Given the description of an element on the screen output the (x, y) to click on. 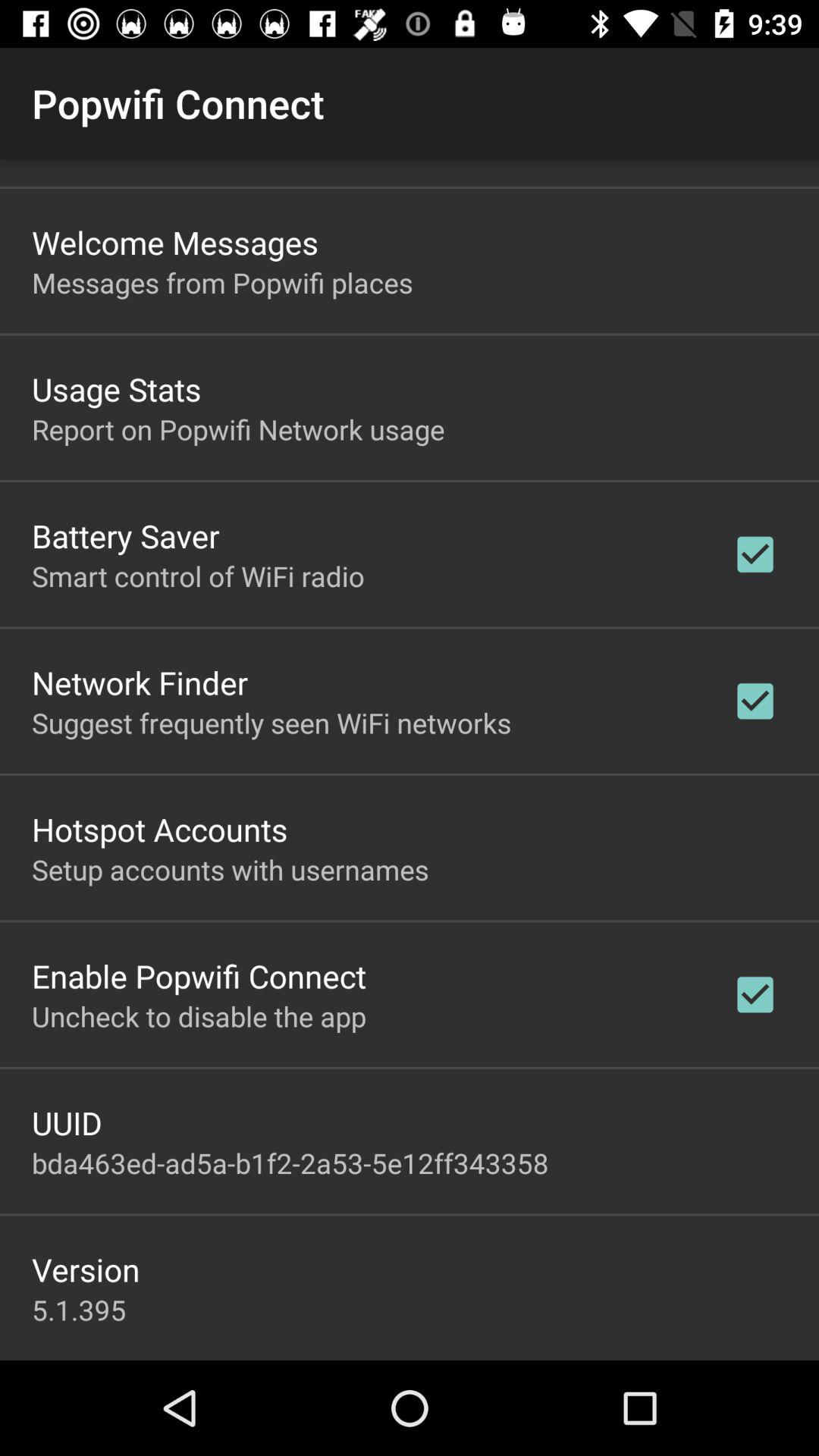
click the item below enable popwifi connect (198, 1016)
